Given the description of an element on the screen output the (x, y) to click on. 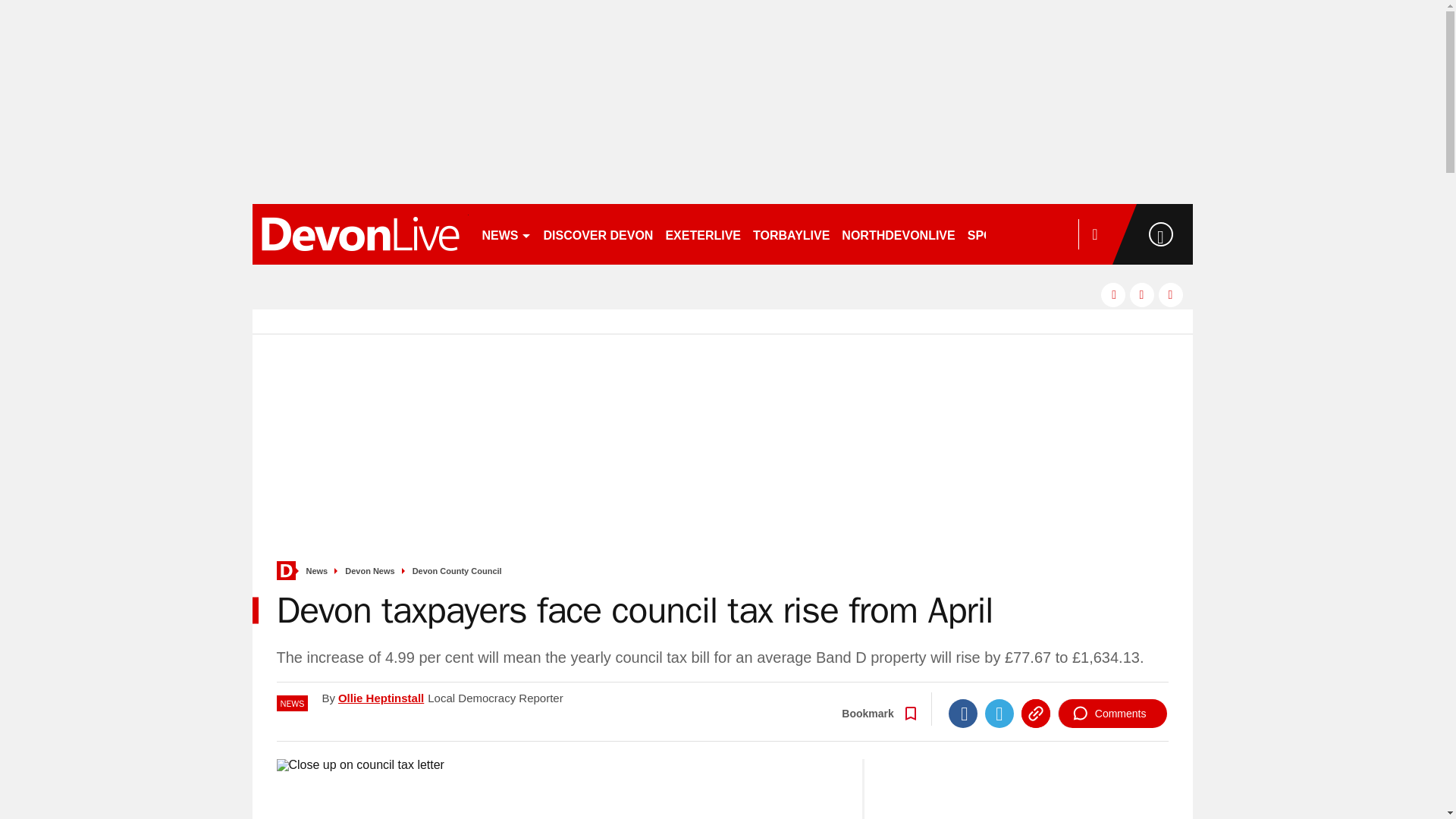
Facebook (962, 713)
Twitter (999, 713)
TORBAYLIVE (790, 233)
Comments (1112, 713)
EXETERLIVE (702, 233)
twitter (1141, 294)
NEWS (506, 233)
NORTHDEVONLIVE (897, 233)
devonlive (359, 233)
facebook (1112, 294)
